Given the description of an element on the screen output the (x, y) to click on. 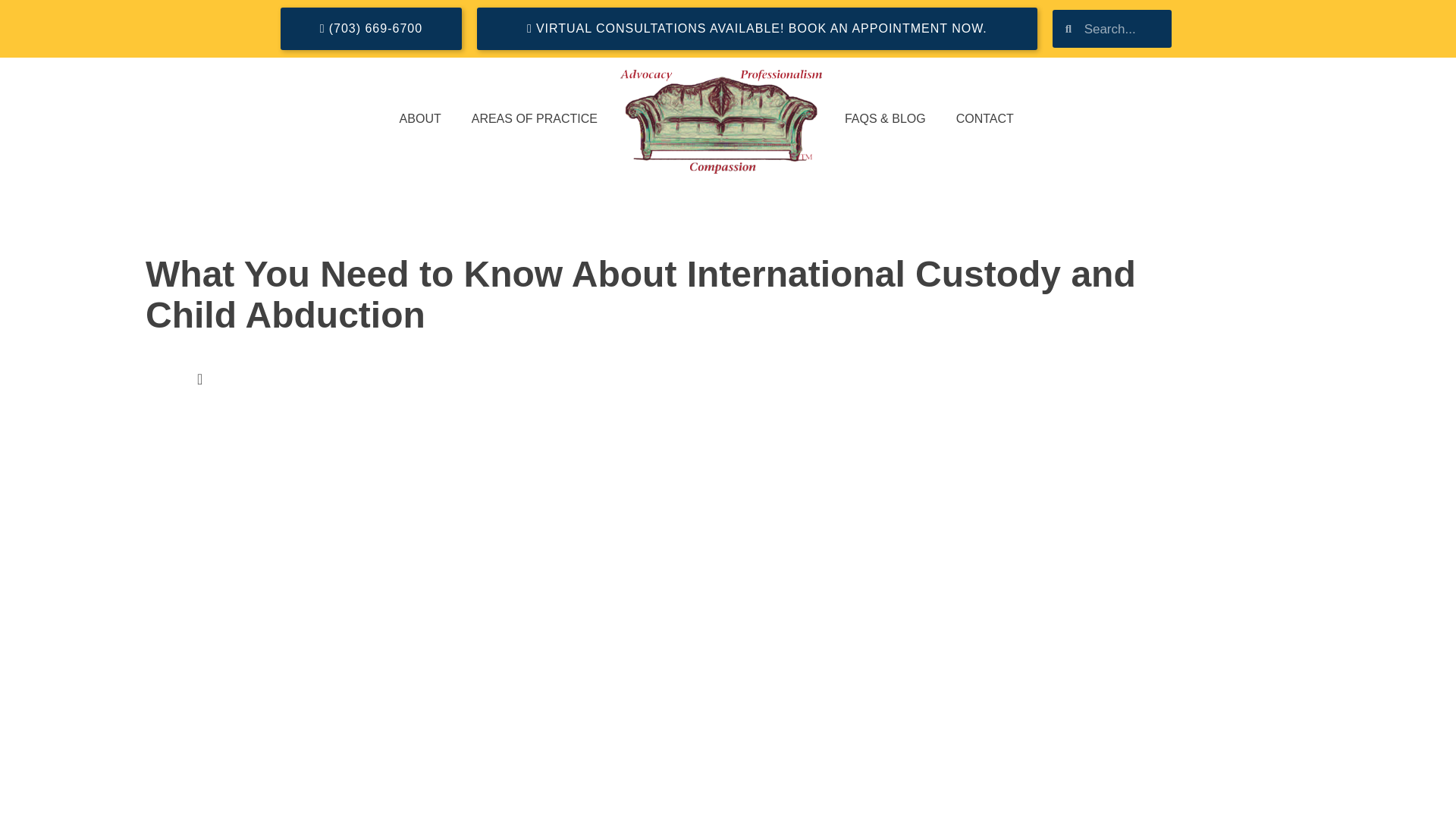
ABOUT (420, 118)
VIRTUAL CONSULTATIONS AVAILABLE! BOOK AN APPOINTMENT NOW. (756, 28)
AREAS OF PRACTICE (534, 118)
